Given the description of an element on the screen output the (x, y) to click on. 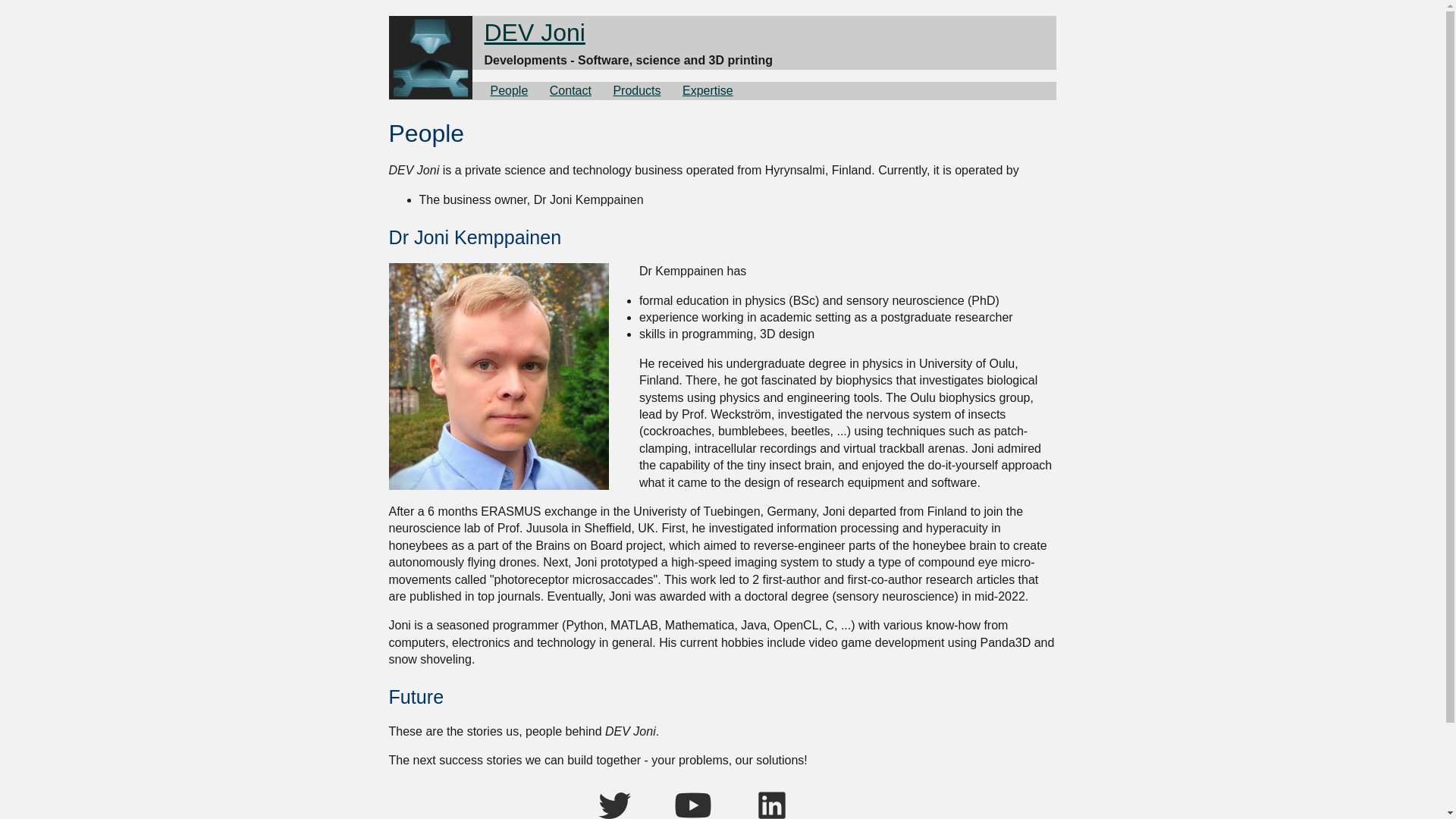
Expertise (707, 90)
Products (636, 90)
Contact (570, 90)
People (508, 90)
DEV Joni (534, 31)
